Given the description of an element on the screen output the (x, y) to click on. 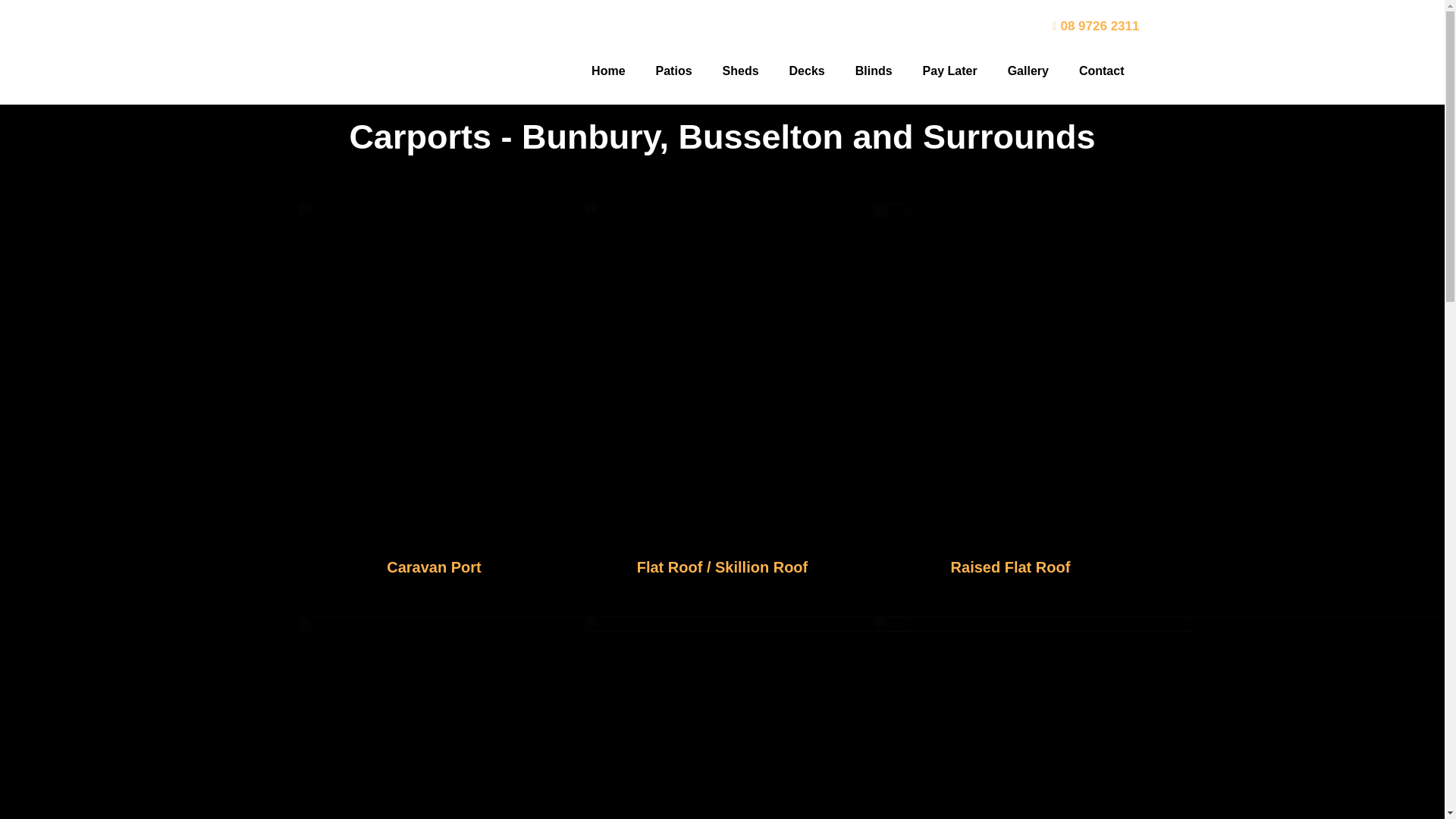
Contact (1102, 71)
Home (608, 71)
Decks (807, 71)
Patios (673, 71)
Blinds (873, 71)
Gallery (1028, 71)
Sheds (740, 71)
Pay Later (949, 71)
08 9726 2311 (807, 26)
